Given the description of an element on the screen output the (x, y) to click on. 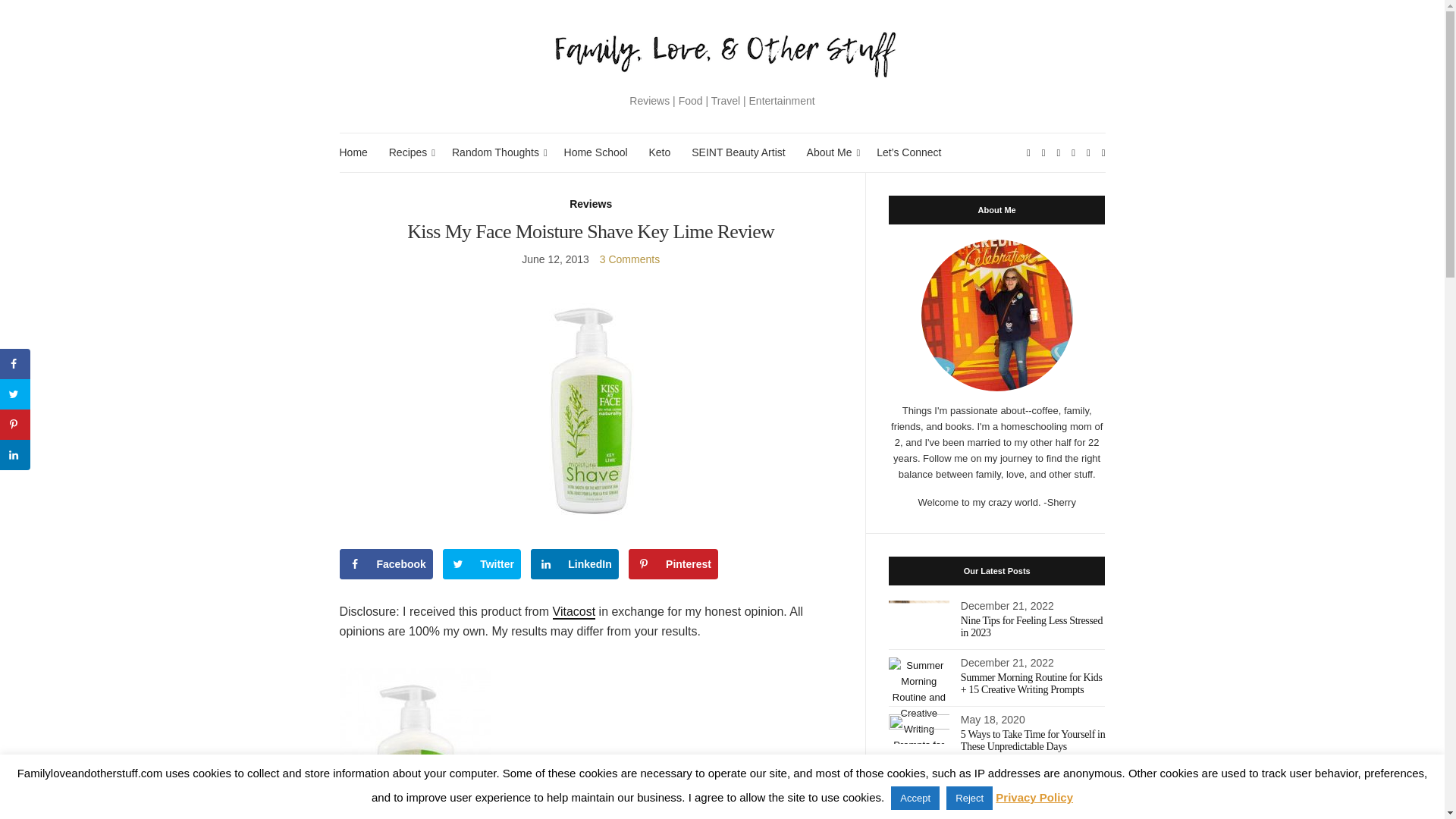
Reviews (590, 203)
Save to Pinterest (672, 563)
Share on Facebook (15, 363)
Keto (660, 152)
Share on Twitter (15, 394)
Home School (595, 152)
Save to Pinterest (15, 424)
Share on Facebook (385, 563)
Share on LinkedIn (574, 563)
SEINT Beauty Artist (737, 152)
Share on LinkedIn (15, 454)
About Me (831, 152)
Share on Twitter (481, 563)
Home (353, 152)
Recipes (409, 152)
